Given the description of an element on the screen output the (x, y) to click on. 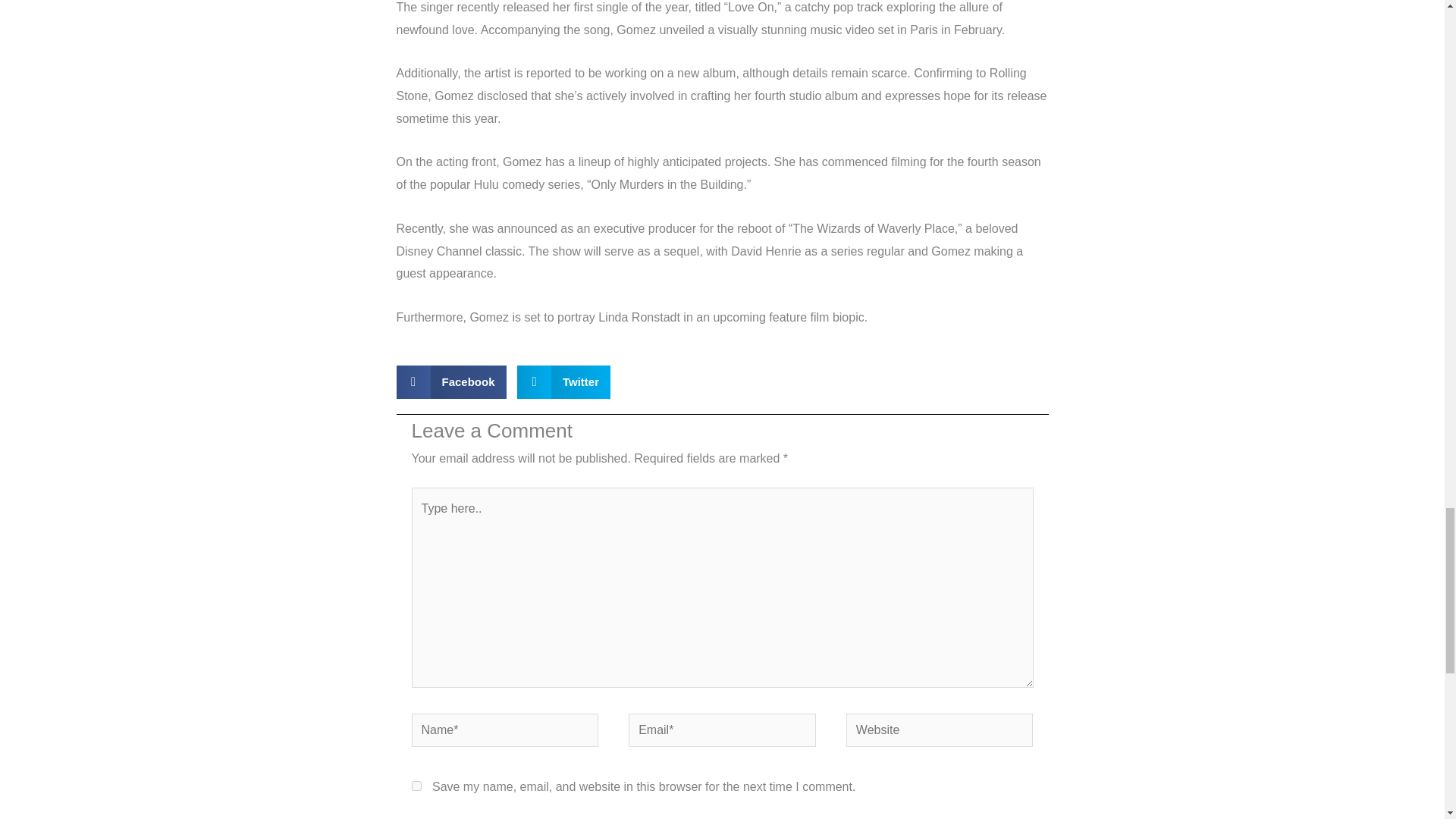
yes (415, 786)
